Given the description of an element on the screen output the (x, y) to click on. 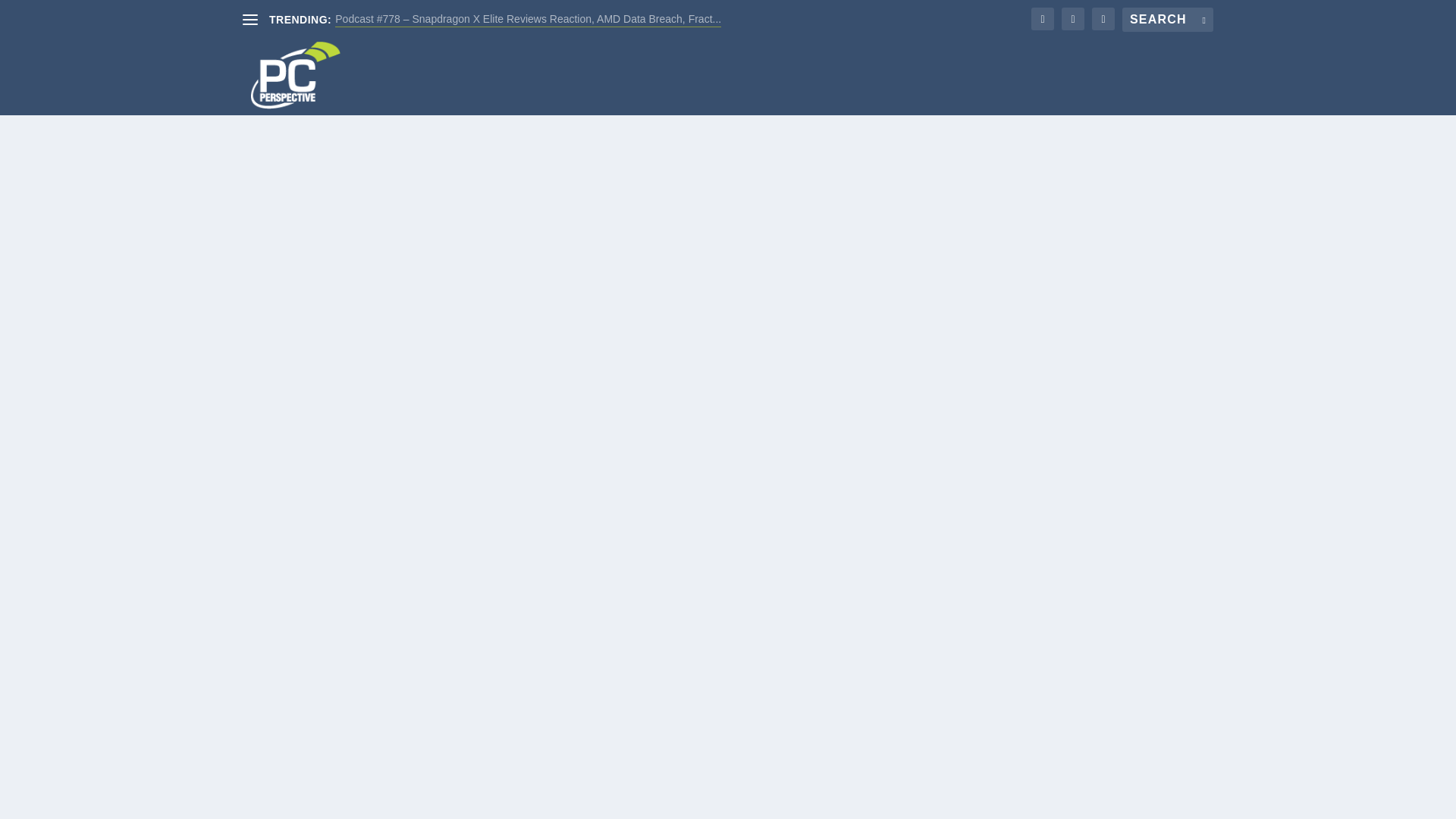
Search for: (1167, 19)
